Given the description of an element on the screen output the (x, y) to click on. 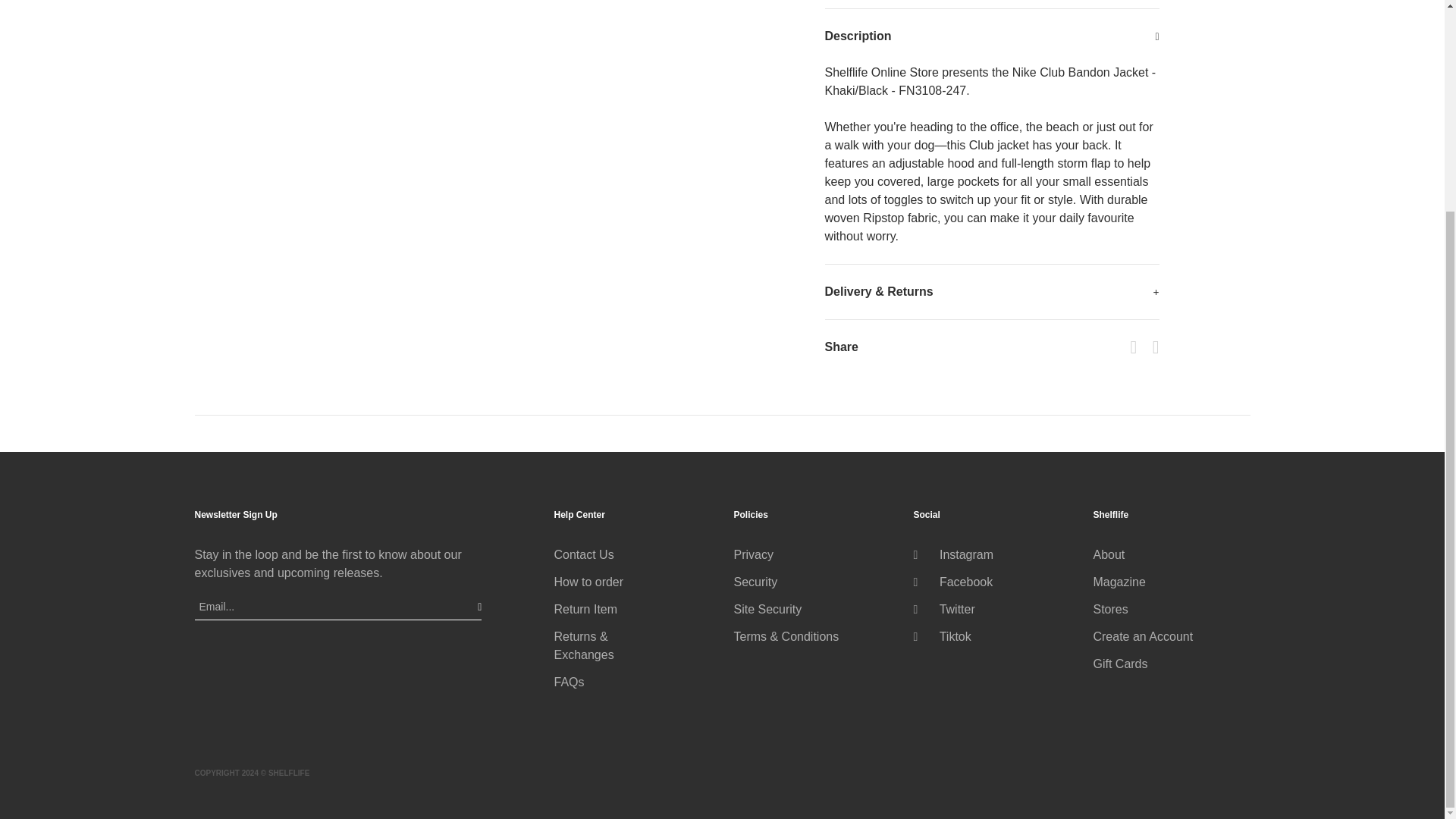
Facebook (952, 581)
Tiktok (941, 635)
Instagram (952, 554)
Twitter (943, 608)
